Given the description of an element on the screen output the (x, y) to click on. 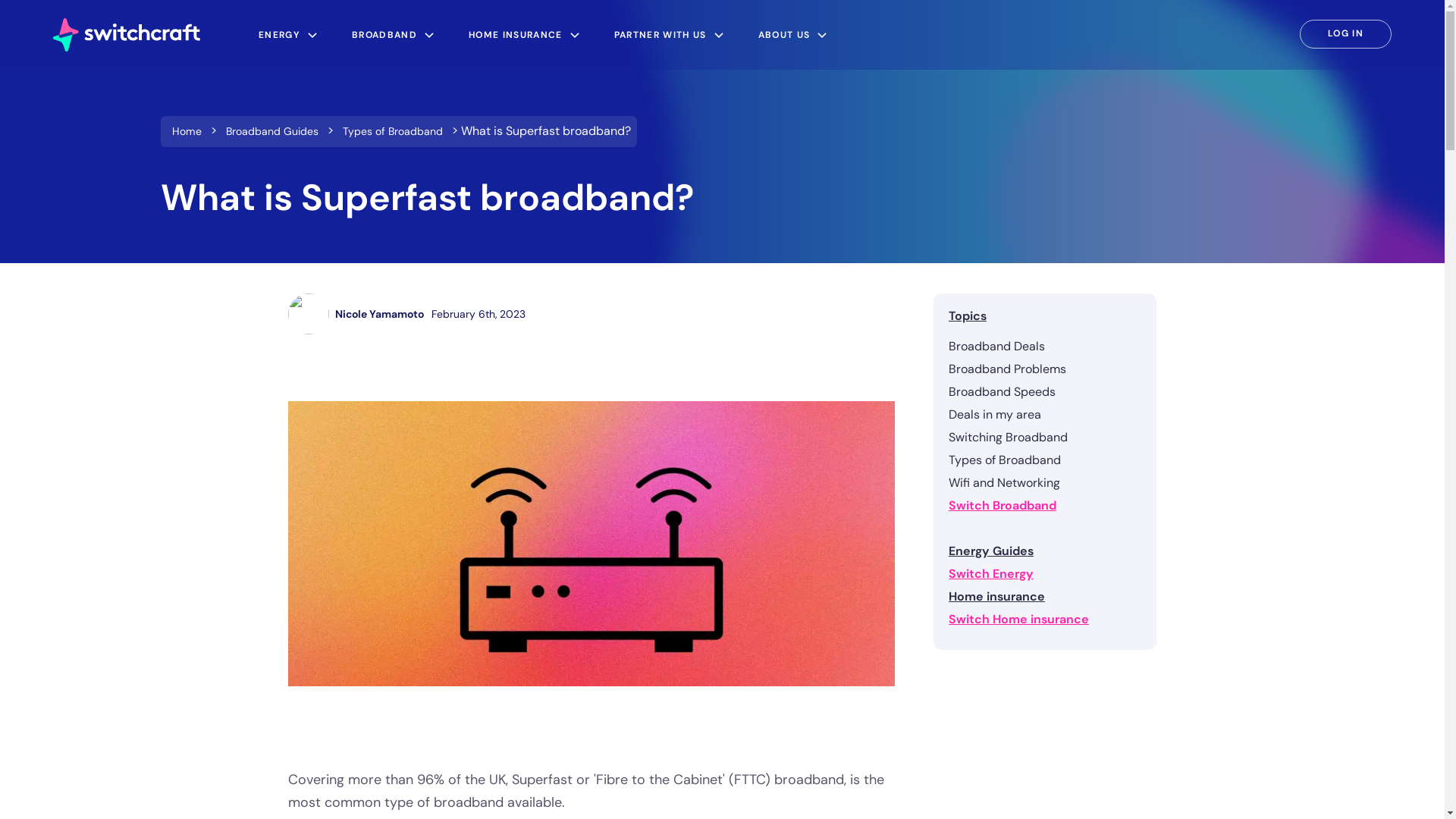
Go to the Broadband Guides category archives. (271, 131)
Types of Broadband (1045, 459)
Types of Broadband (392, 131)
Broadband Speeds (1045, 391)
Broadband Guides (271, 131)
Broadband Problems (1045, 368)
Home (186, 131)
Switch Broadband (1045, 505)
Login (1345, 33)
Go to Switchcraft. (186, 131)
LOG IN (1345, 33)
Go to the Types of Broadband category archives. (392, 131)
Switching Broadband (1045, 437)
Deals in my area (1045, 414)
Broadband Deals (1045, 346)
